Given the description of an element on the screen output the (x, y) to click on. 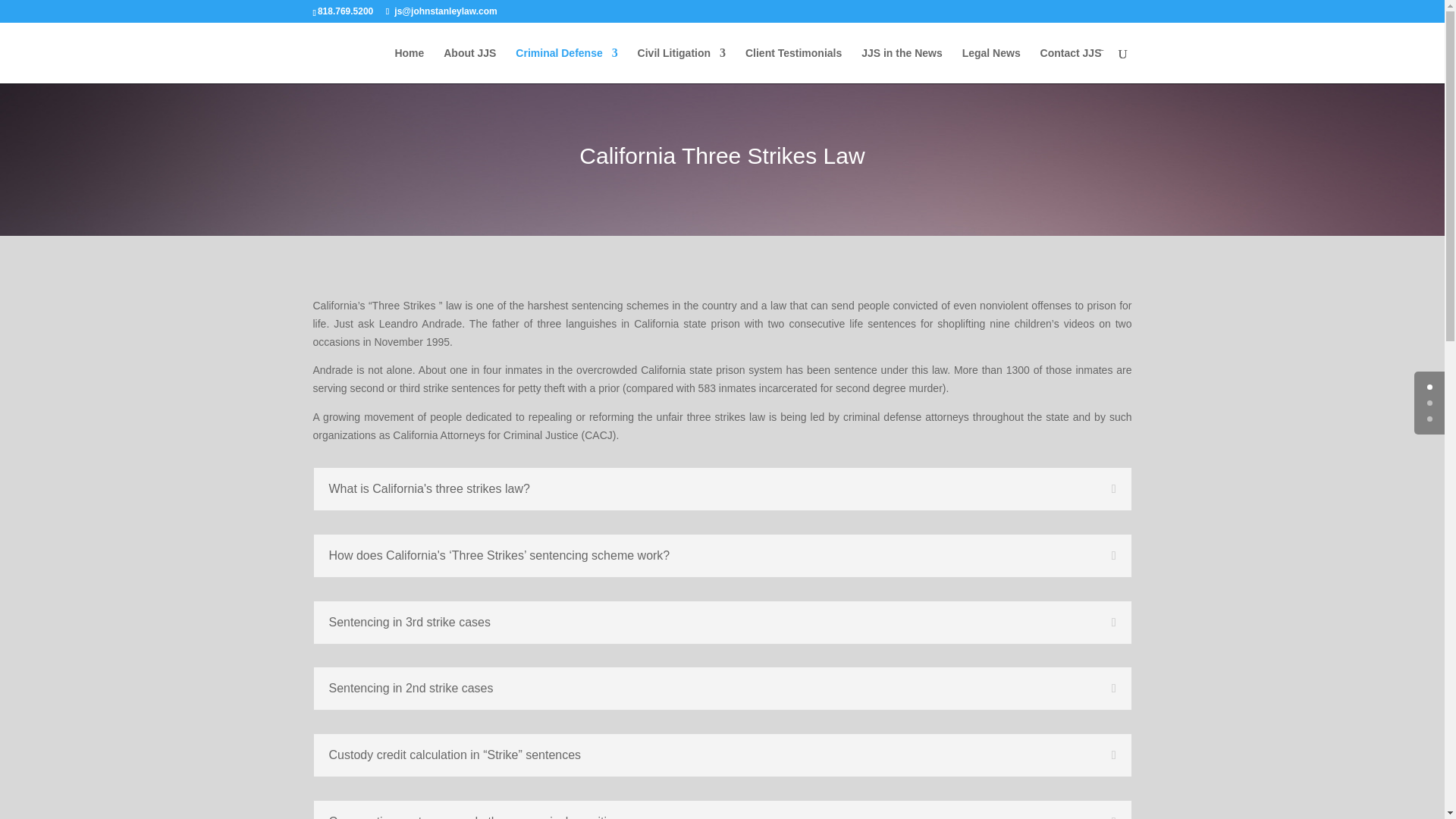
Criminal Defense (566, 65)
About JJS (470, 65)
